Given the description of an element on the screen output the (x, y) to click on. 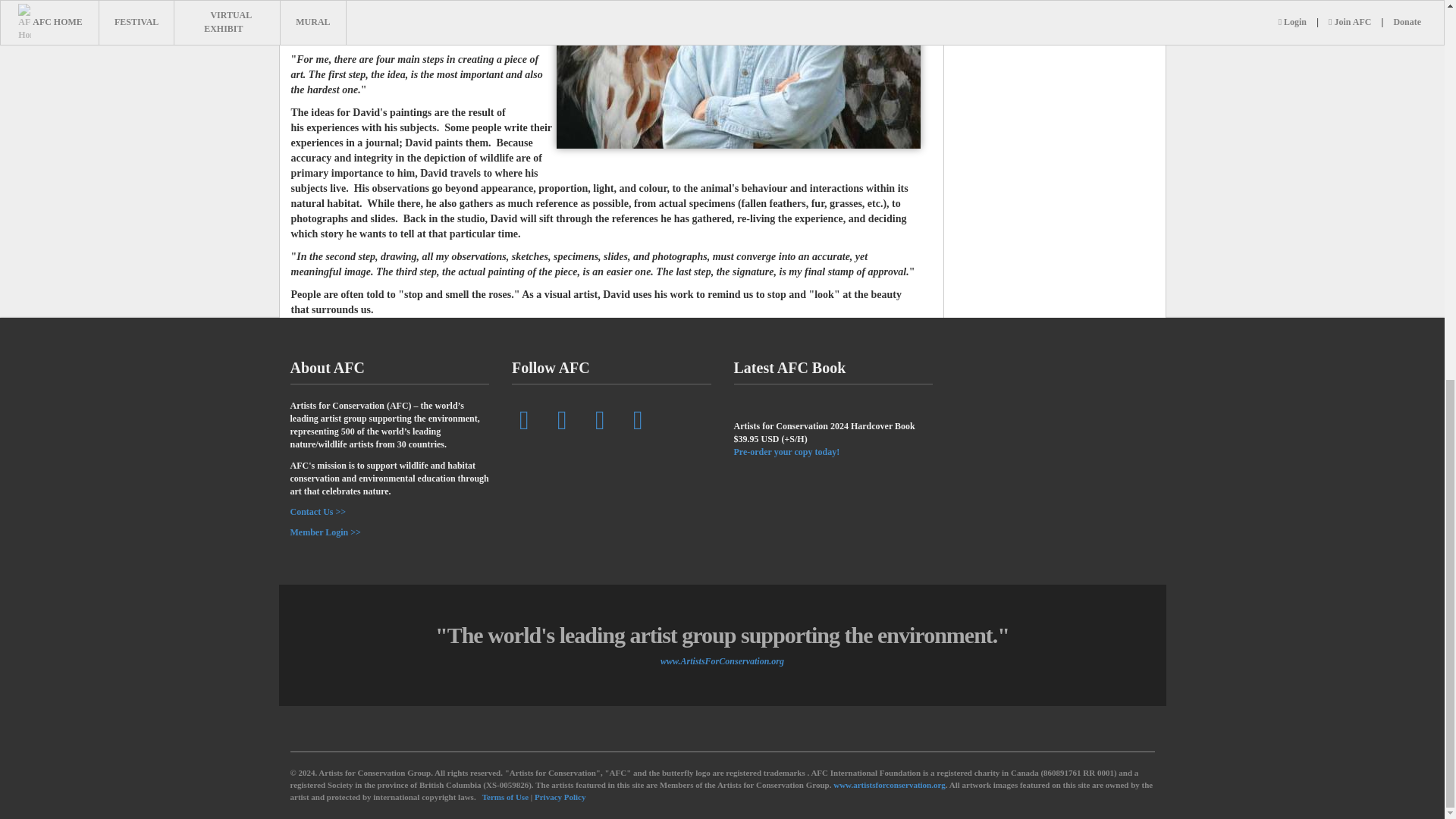
Member Login (324, 533)
